Given the description of an element on the screen output the (x, y) to click on. 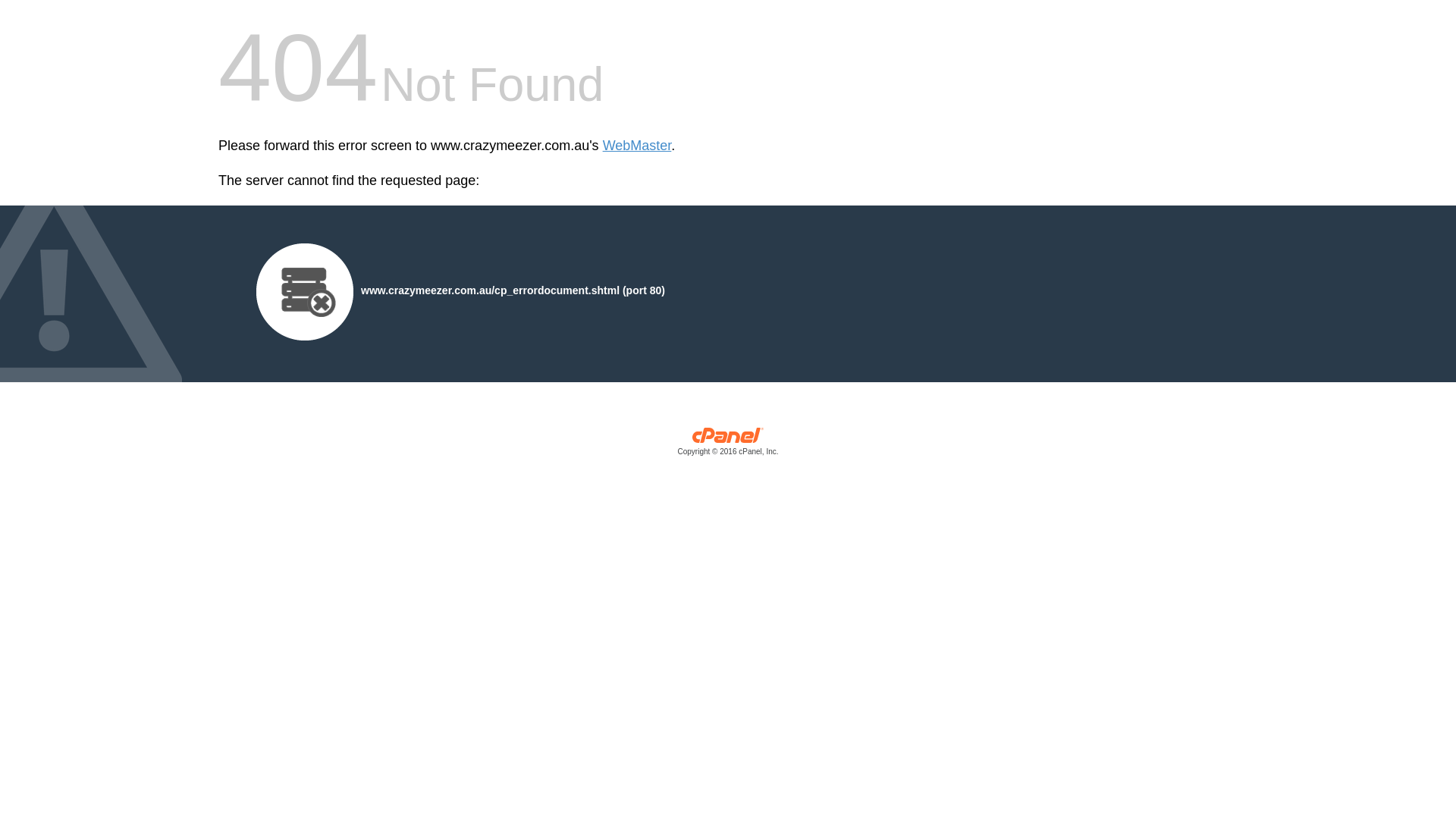
WebMaster Element type: text (636, 145)
